Given the description of an element on the screen output the (x, y) to click on. 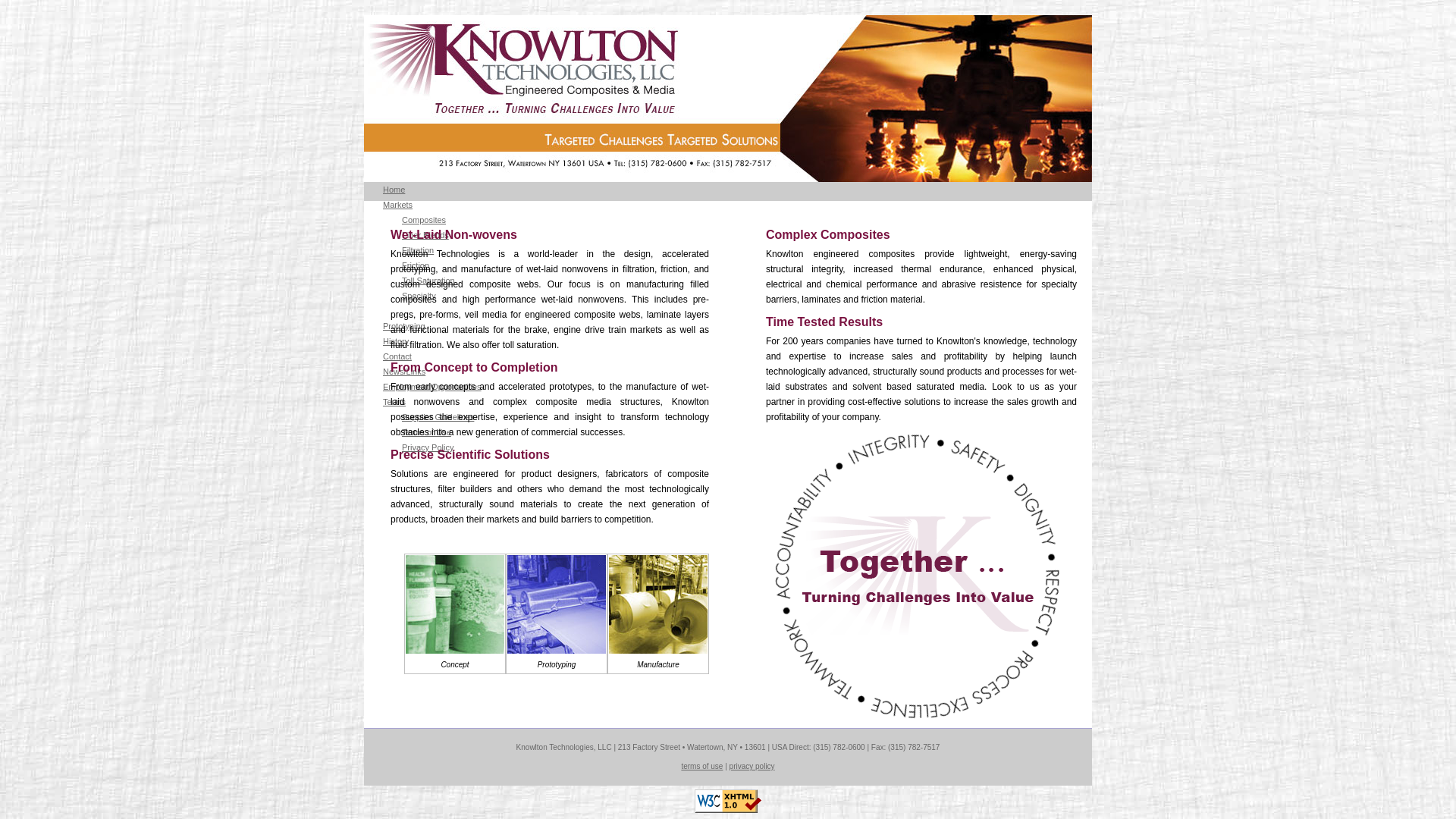
History (395, 340)
Employment Opportunities (431, 386)
Search (1045, 477)
Terms of Use (426, 431)
Composites (423, 219)
Markets (397, 204)
Fiber Blends (424, 234)
privacy policy (751, 766)
Privacy Policy (426, 447)
Prototyping (403, 325)
